Given the description of an element on the screen output the (x, y) to click on. 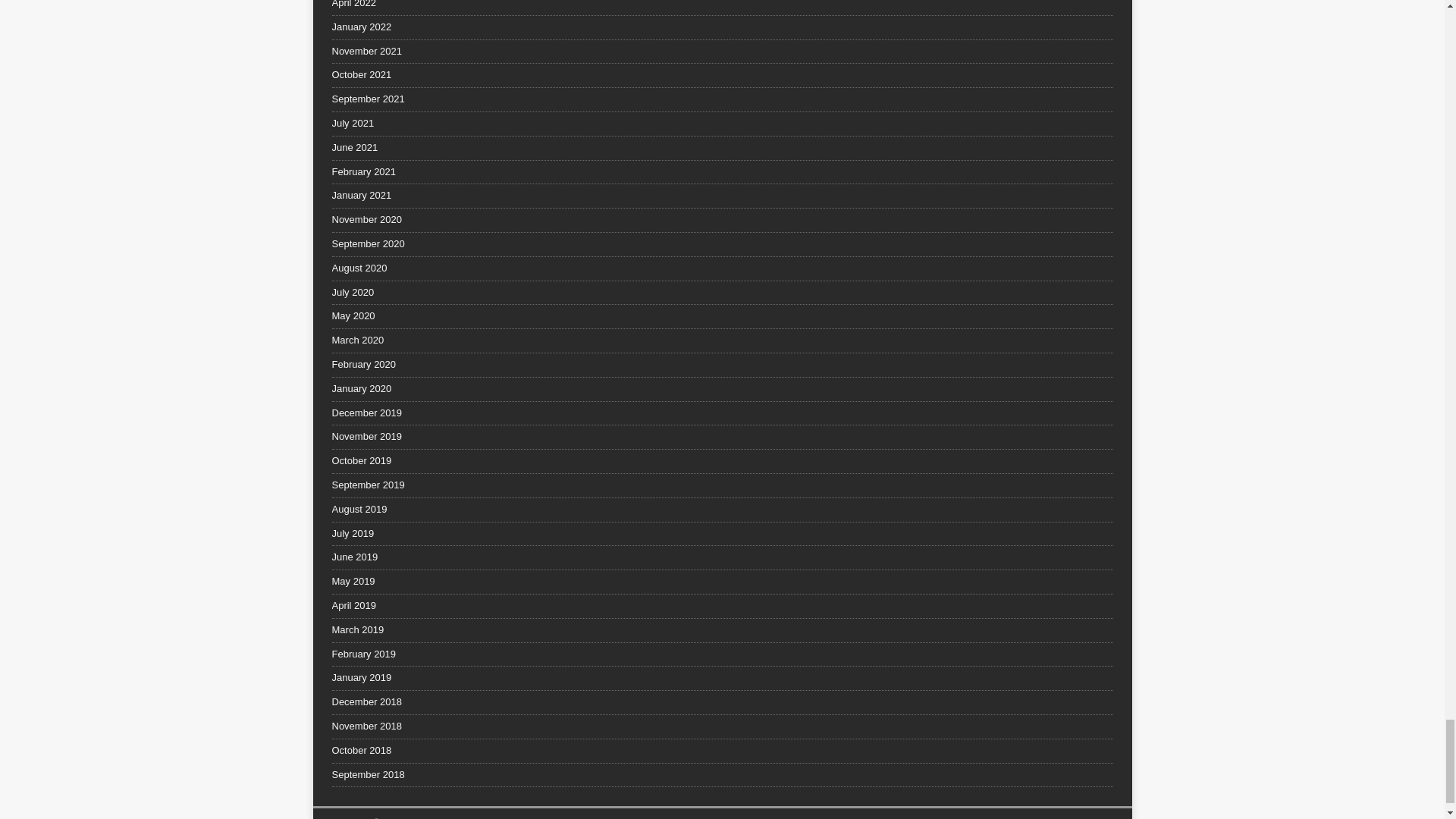
April 2022 (722, 7)
